Given the description of an element on the screen output the (x, y) to click on. 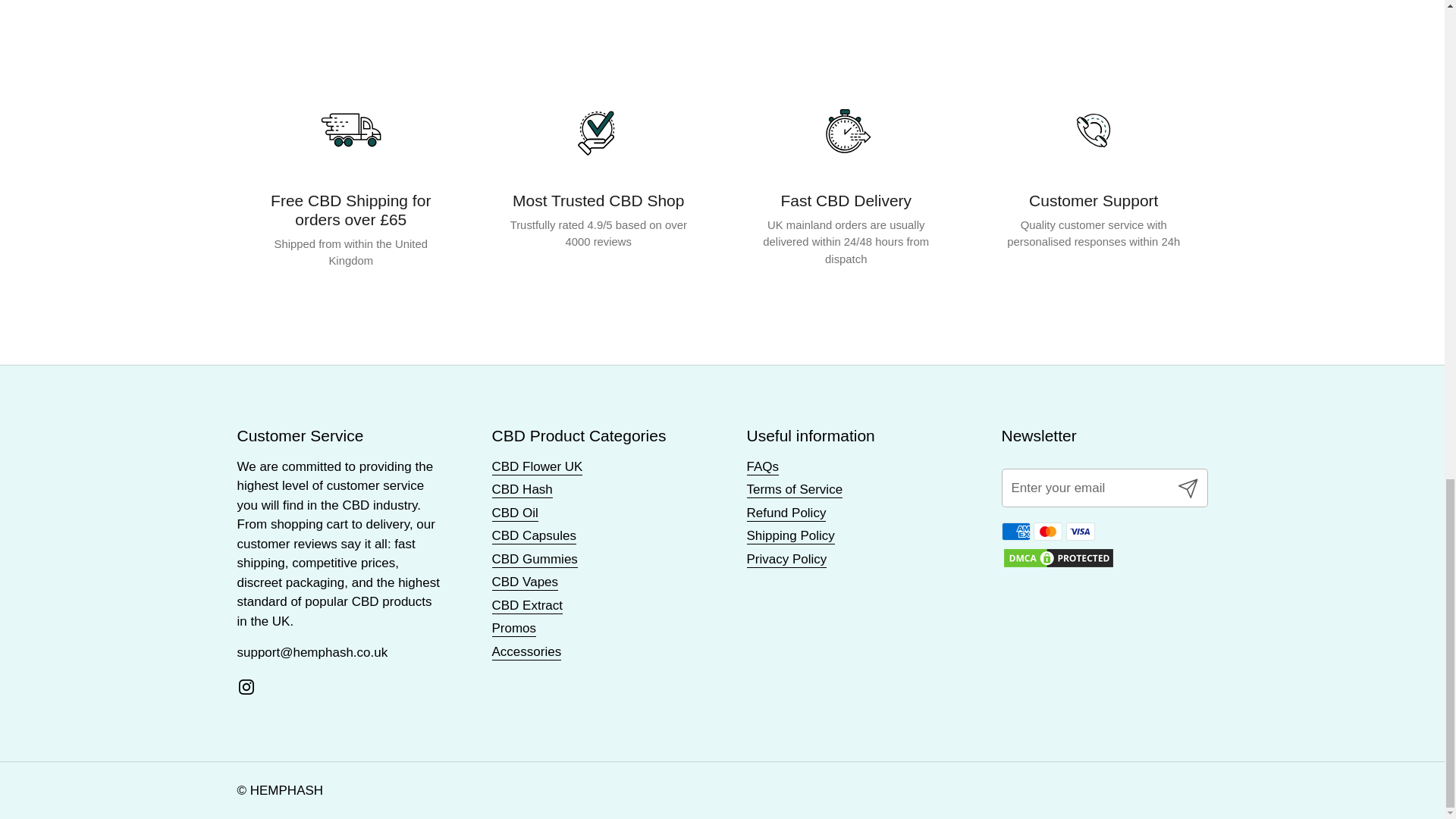
DMCA.com Protection Status (1058, 564)
Visa (1079, 531)
Mastercard (1047, 531)
American Express (1015, 531)
